Given the description of an element on the screen output the (x, y) to click on. 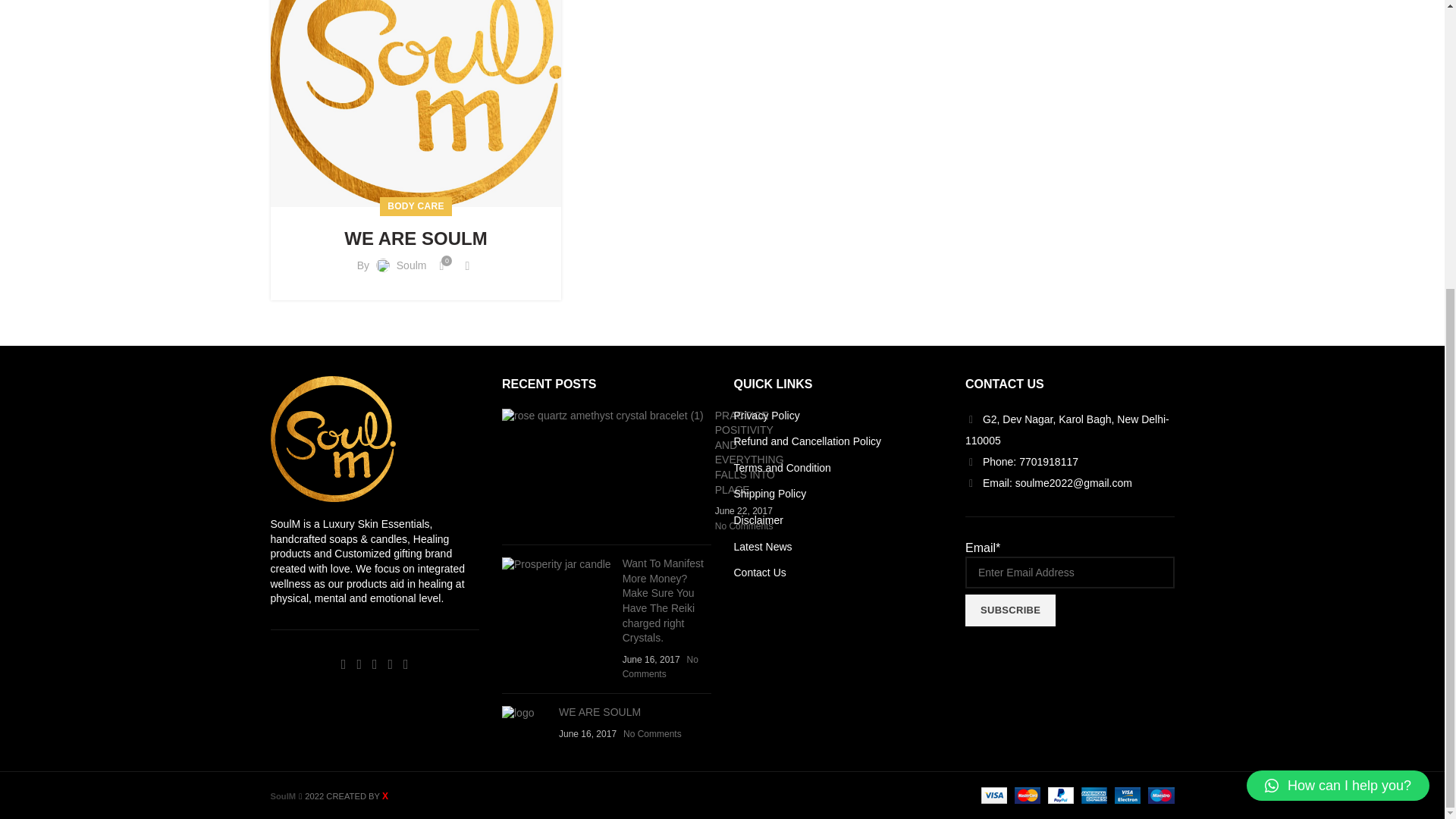
Permalink to WE ARE SOULM (599, 711)
Prosperity Jar Candle (556, 564)
logo (414, 104)
Subscribe (1010, 610)
logo (524, 713)
